Given the description of an element on the screen output the (x, y) to click on. 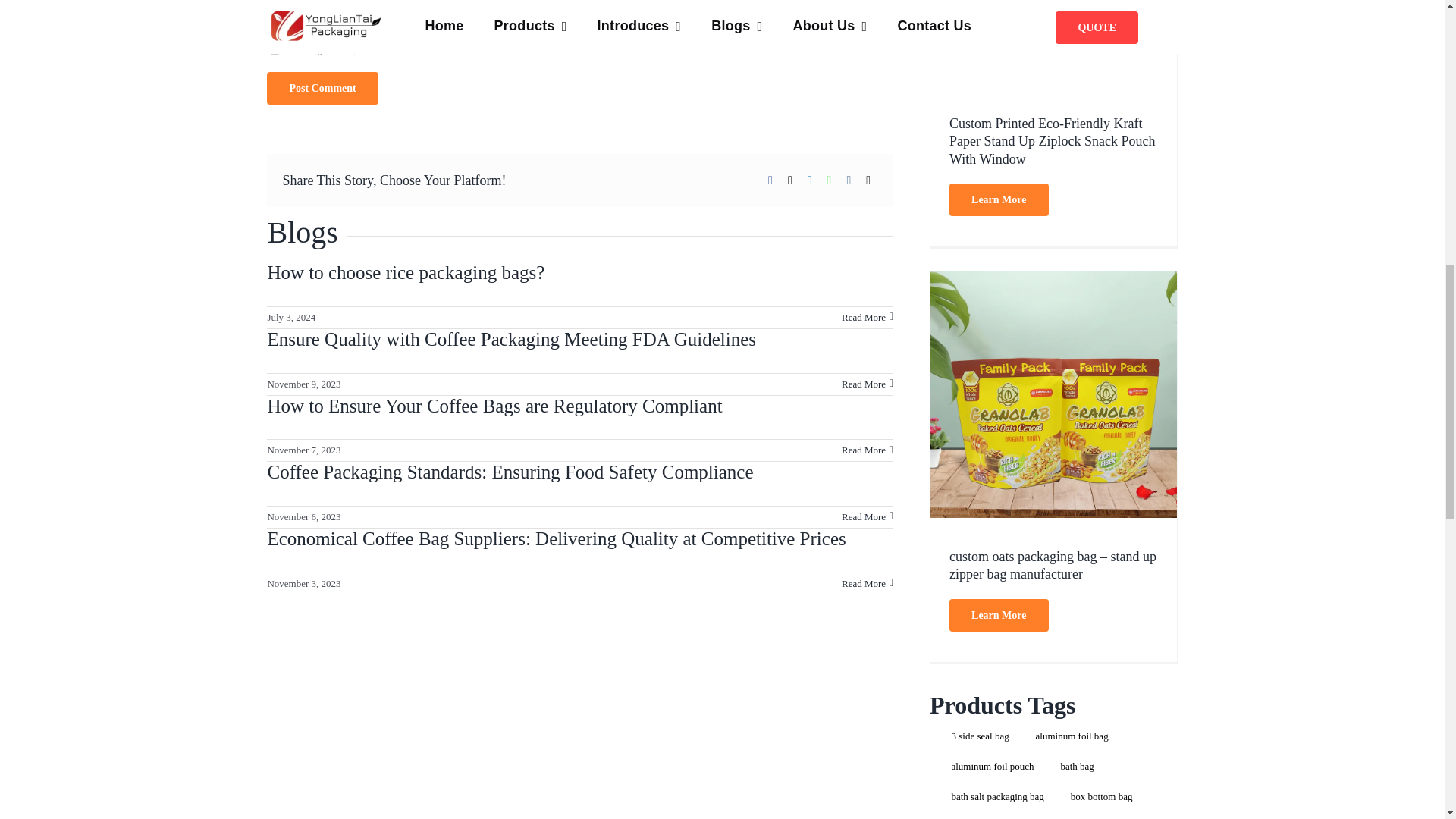
Post Comment (321, 88)
yes (274, 49)
